Given the description of an element on the screen output the (x, y) to click on. 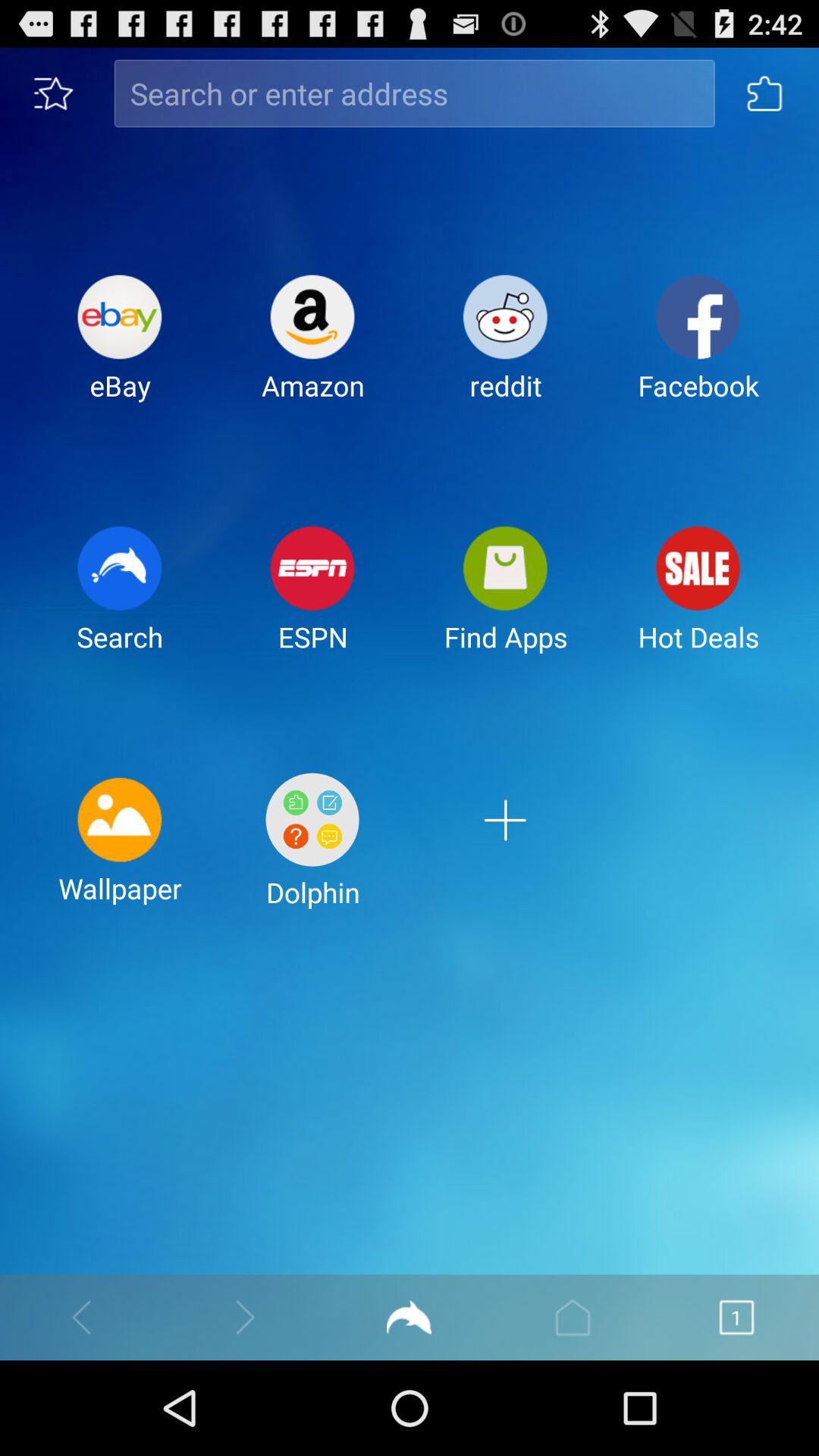
add app (505, 852)
